Given the description of an element on the screen output the (x, y) to click on. 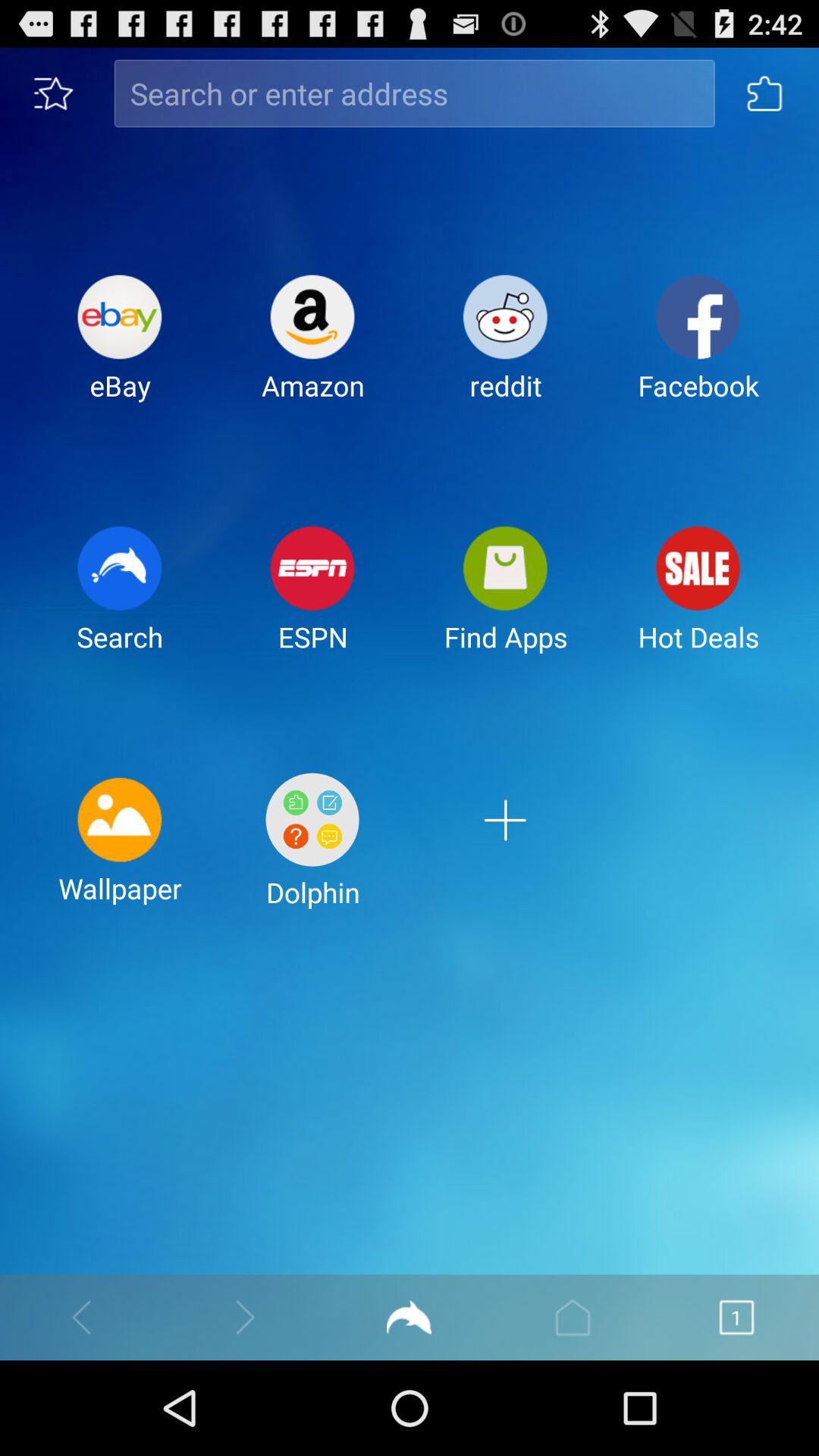
add app (505, 852)
